Given the description of an element on the screen output the (x, y) to click on. 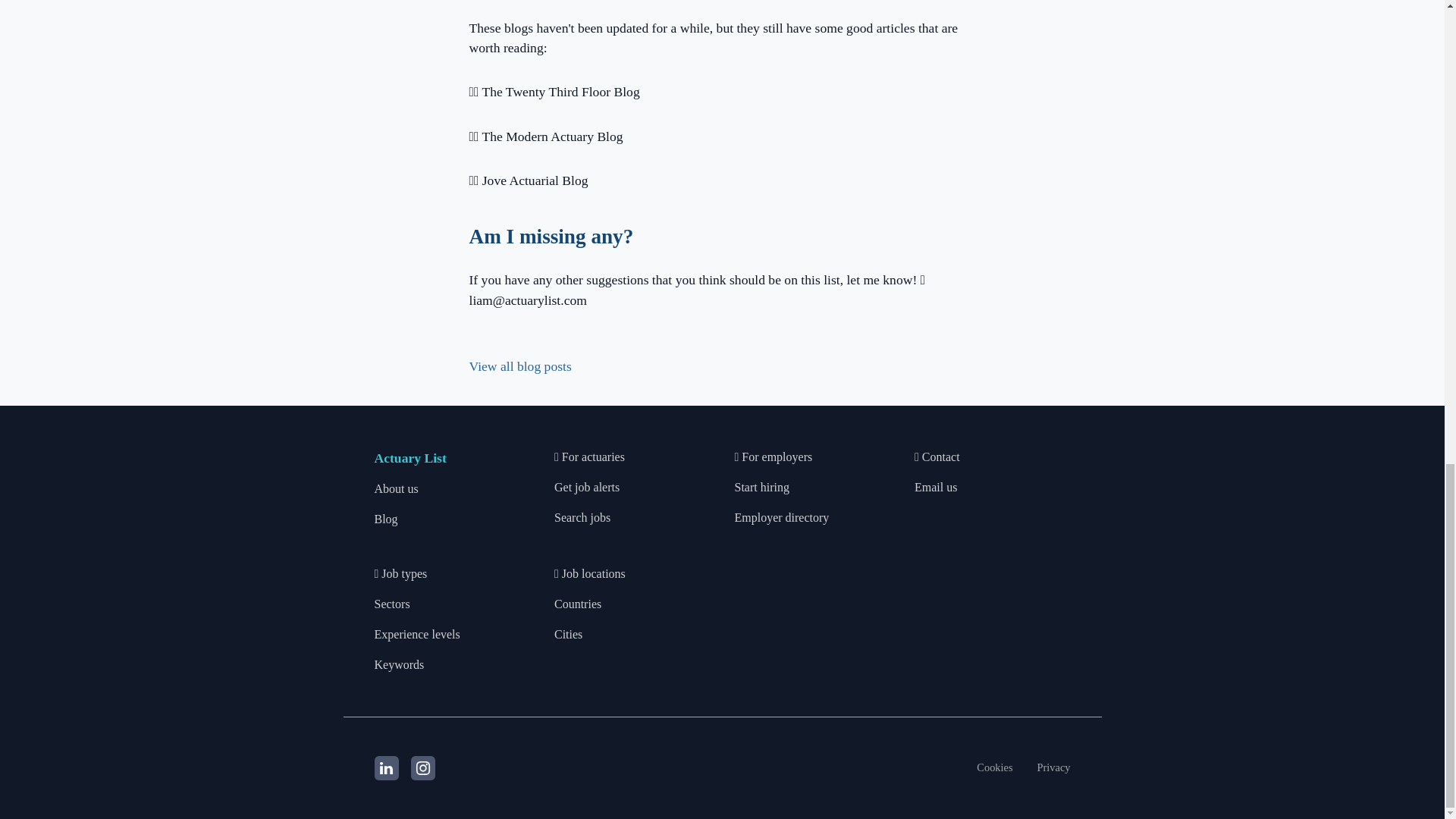
Sectors (392, 603)
Start hiring (761, 487)
Search jobs (582, 517)
Employer directory (780, 517)
Experience levels (417, 634)
Cookies (993, 767)
Actuary List (410, 458)
Get job alerts (587, 487)
Countries (577, 603)
Email us (935, 487)
About us (396, 489)
Keywords (399, 665)
Privacy (1053, 767)
Cities (568, 634)
View all blog posts (519, 365)
